Given the description of an element on the screen output the (x, y) to click on. 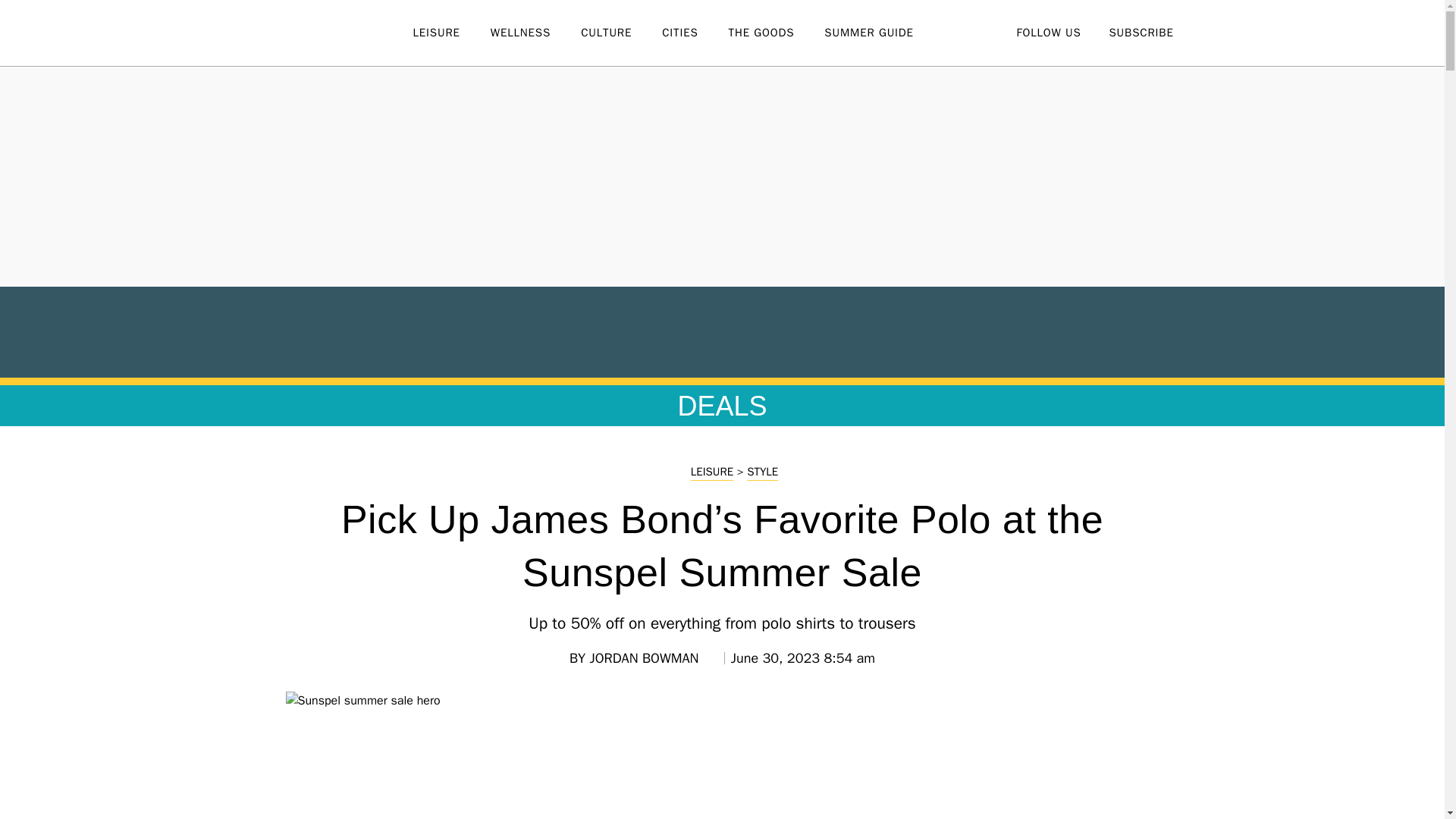
CULTURE (621, 32)
LEISURE (450, 32)
CITIES (695, 32)
THE GOODS (777, 32)
FOLLOW US (1048, 32)
SUMMER GUIDE (883, 32)
WELLNESS (535, 32)
SUBSCRIBE (1140, 32)
